Given the description of an element on the screen output the (x, y) to click on. 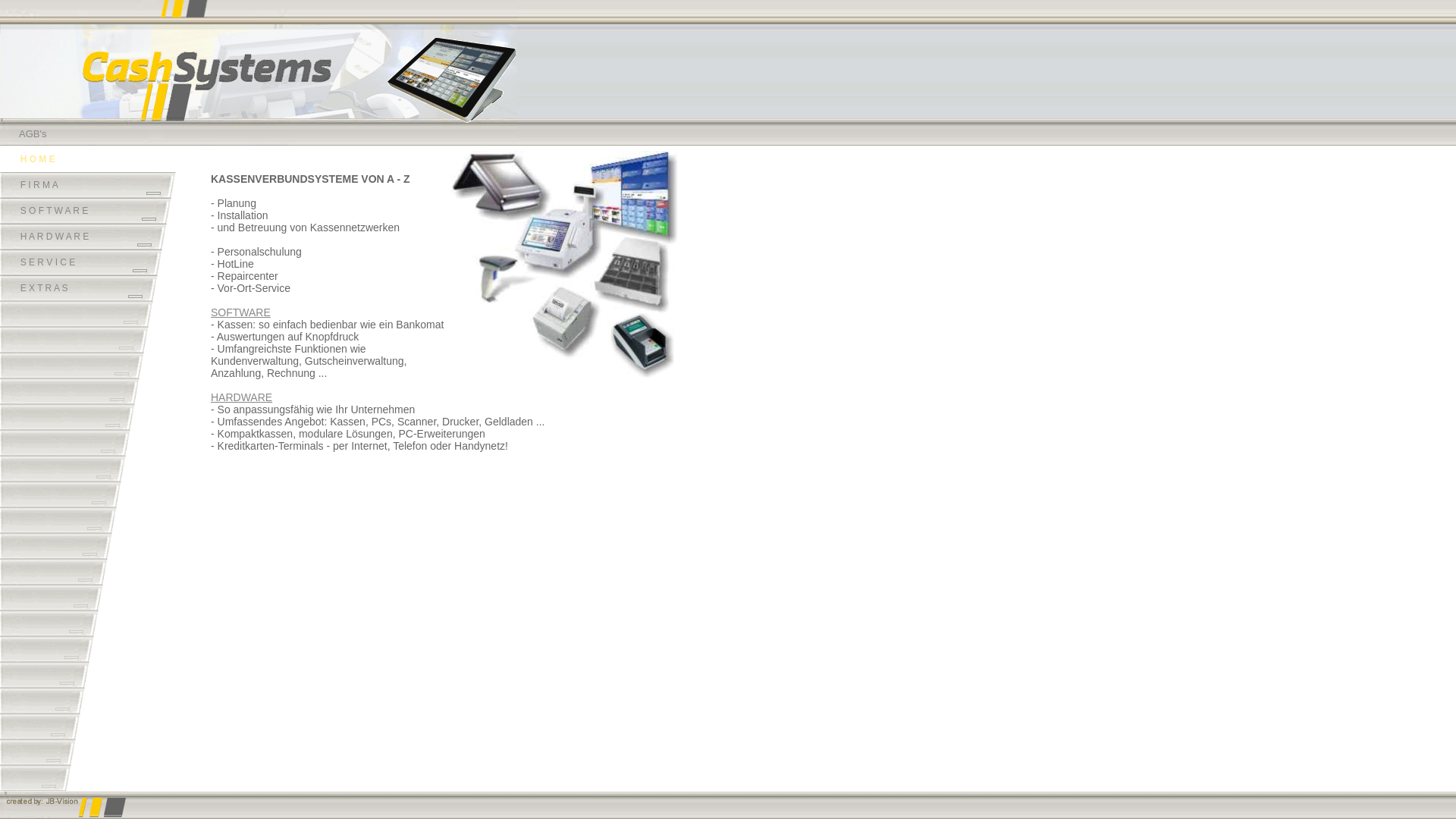
        S E R V I C E Element type: text (81, 262)
        S O F T W A R E Element type: text (85, 210)
HARDWARE Element type: text (241, 397)
        E X T R A S Element type: text (78, 288)
        F I R M A Element type: text (87, 184)
        H A R D W A R E Element type: text (83, 236)
AGB's Element type: text (32, 133)
SOFTWARE Element type: text (240, 312)
        H O M E Element type: text (90, 159)
